Given the description of an element on the screen output the (x, y) to click on. 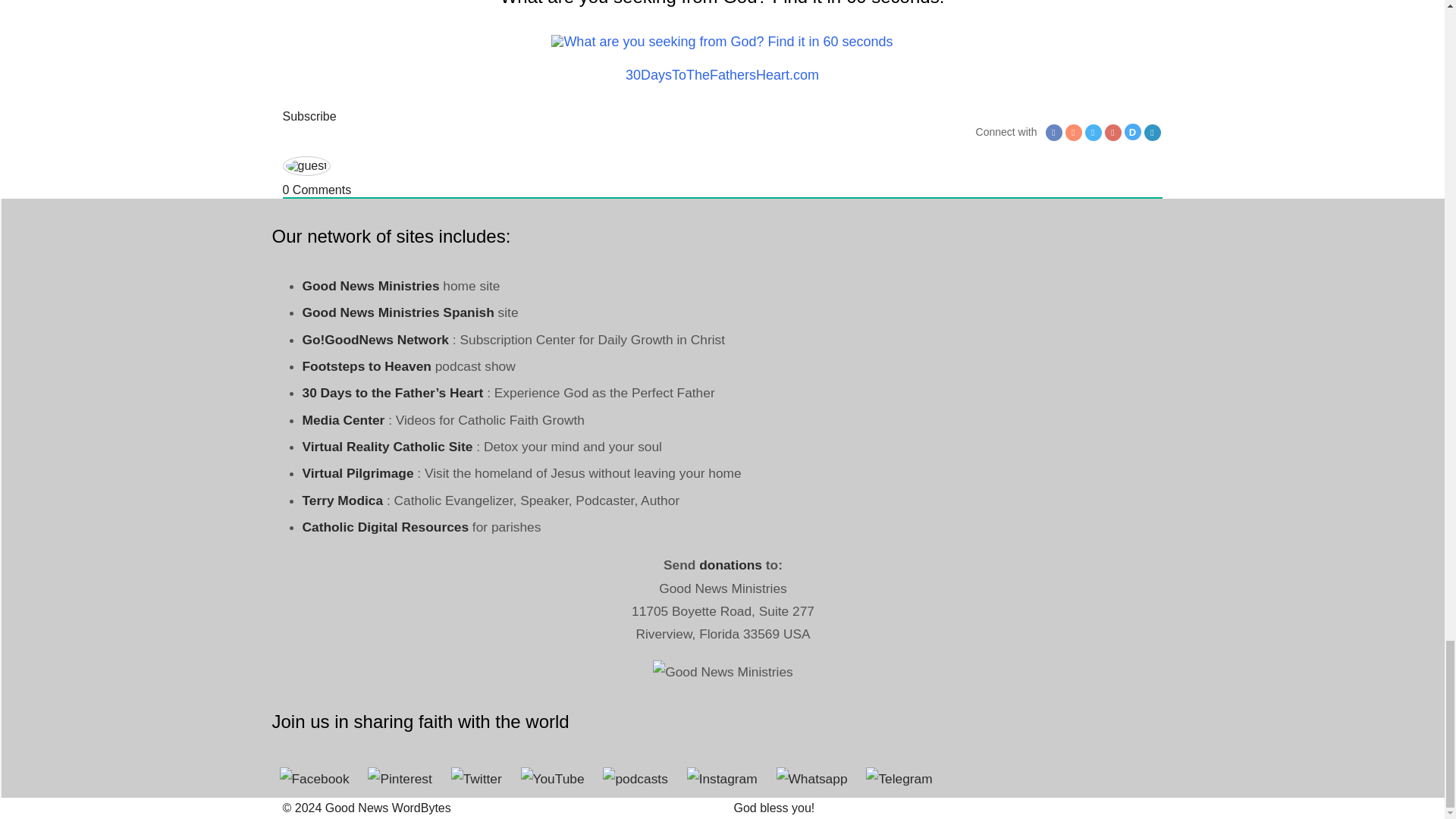
What are you seeking from God? Find it in 60 seconds (721, 41)
